Given the description of an element on the screen output the (x, y) to click on. 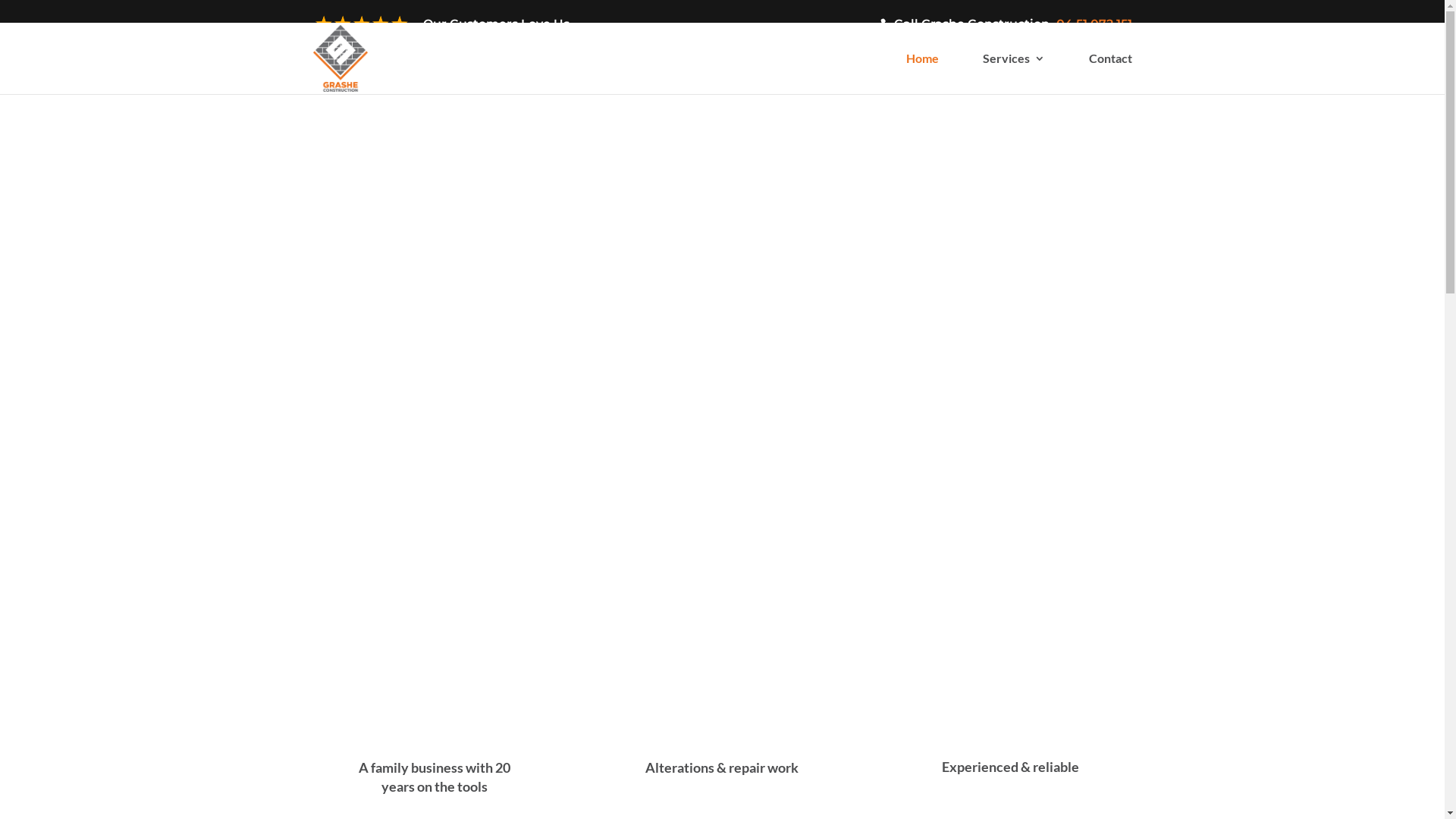
Our Customers Love Us. Element type: text (441, 28)
04 51 072 151 Element type: text (1093, 23)
Contact Element type: text (1110, 73)
Home Element type: text (921, 73)
Services Element type: text (1013, 73)
